Given the description of an element on the screen output the (x, y) to click on. 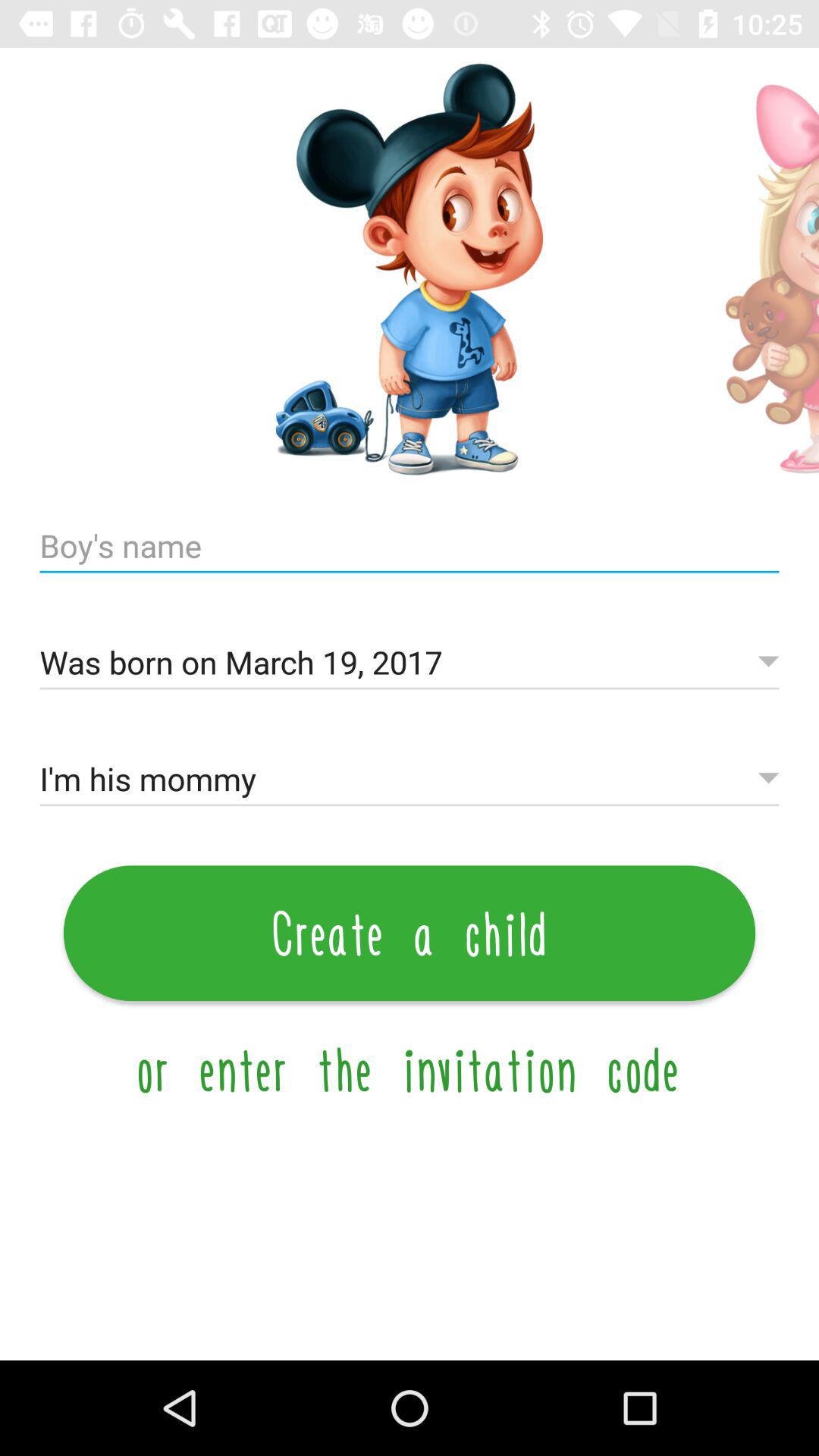
open create a child (409, 933)
